Given the description of an element on the screen output the (x, y) to click on. 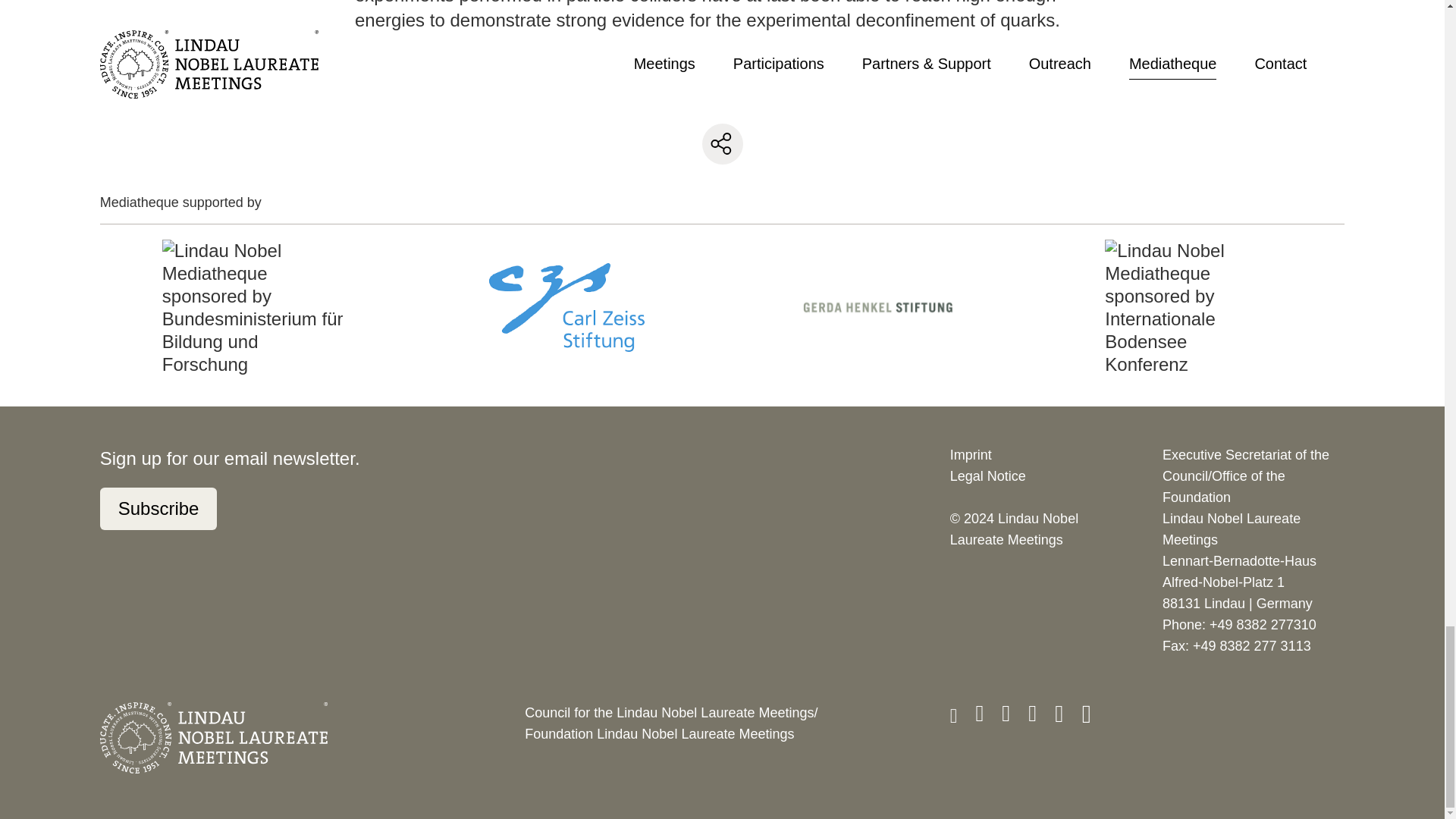
Gerda Henkel Stiftung (877, 306)
Carl Zeiss Stiftung (566, 306)
Internationale Bodensee Konferenz (1188, 307)
